Given the description of an element on the screen output the (x, y) to click on. 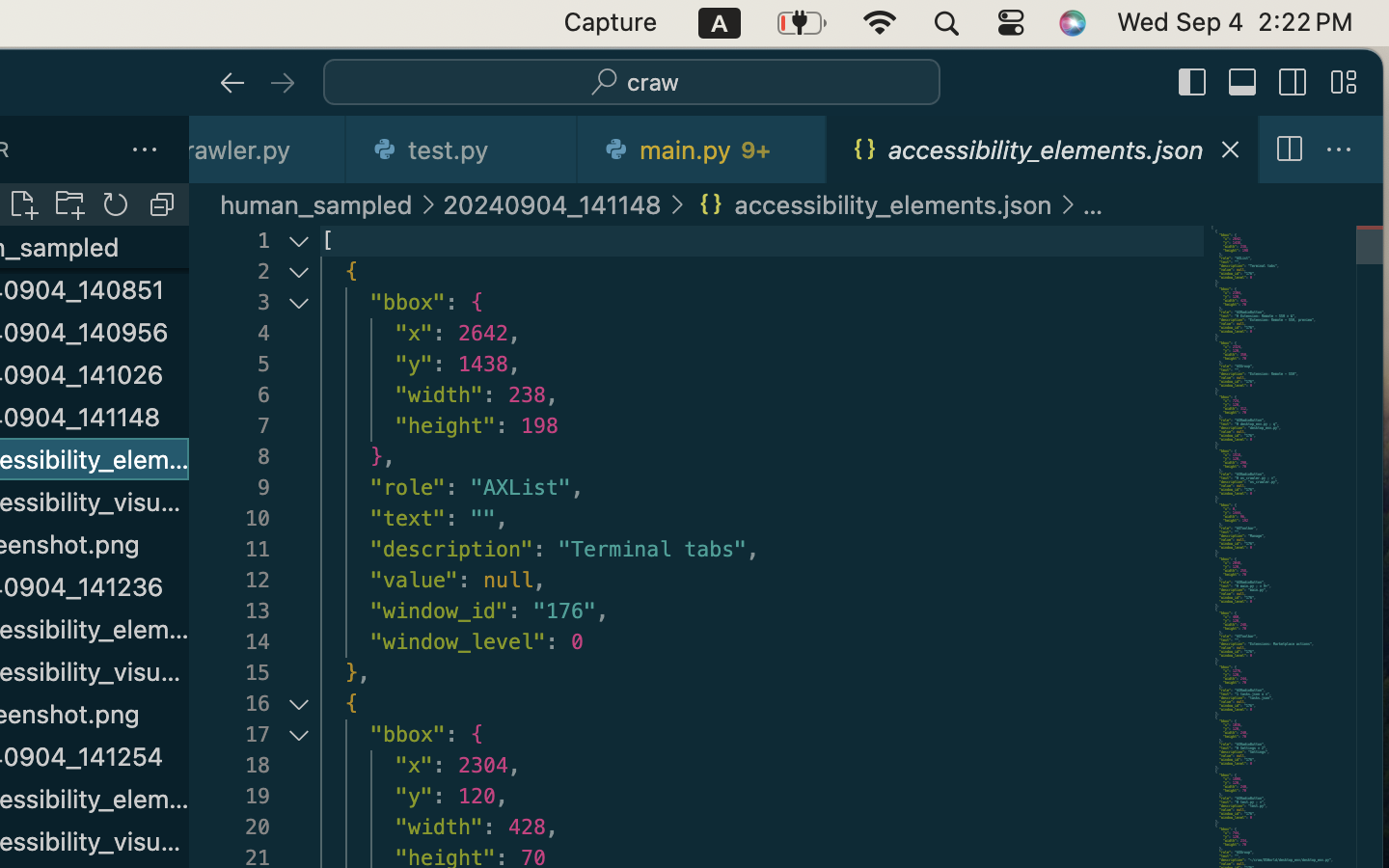
 Element type: AXStaticText (1338, 150)
craw Element type: AXStaticText (652, 82)
0 test.py   Element type: AXRadioButton (462, 149)
0 os_crawler.py  Element type: AXRadioButton (268, 149)
 Element type: AXButton (1343, 82)
